Given the description of an element on the screen output the (x, y) to click on. 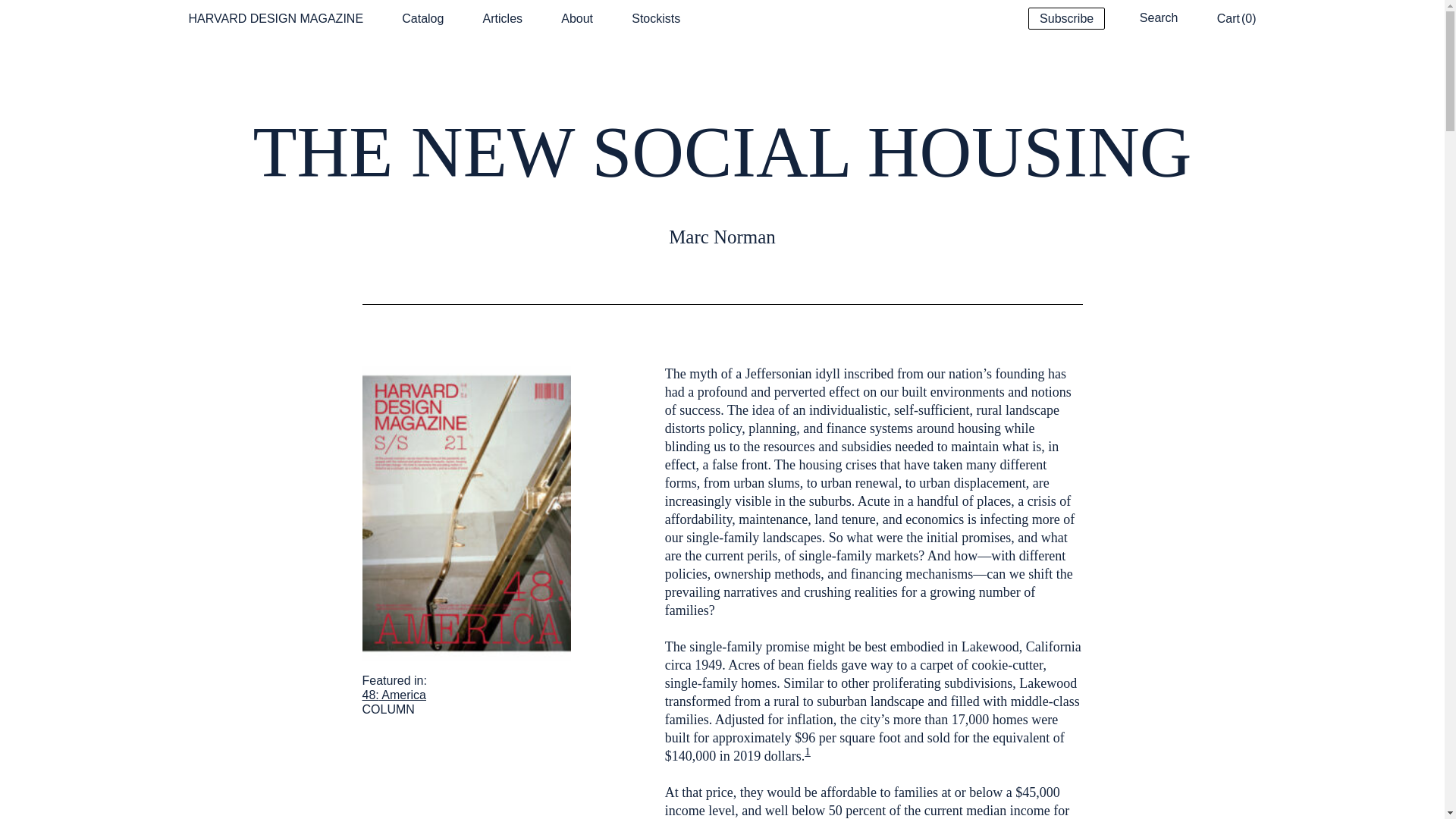
Subscribe (1066, 18)
About (576, 18)
Cart (1228, 18)
Stockists (655, 18)
Catalog (422, 18)
HARVARD DESIGN MAGAZINE (274, 18)
Search (1158, 17)
Open the search dialog (1158, 17)
Articles (502, 18)
48: America (394, 694)
